Given the description of an element on the screen output the (x, y) to click on. 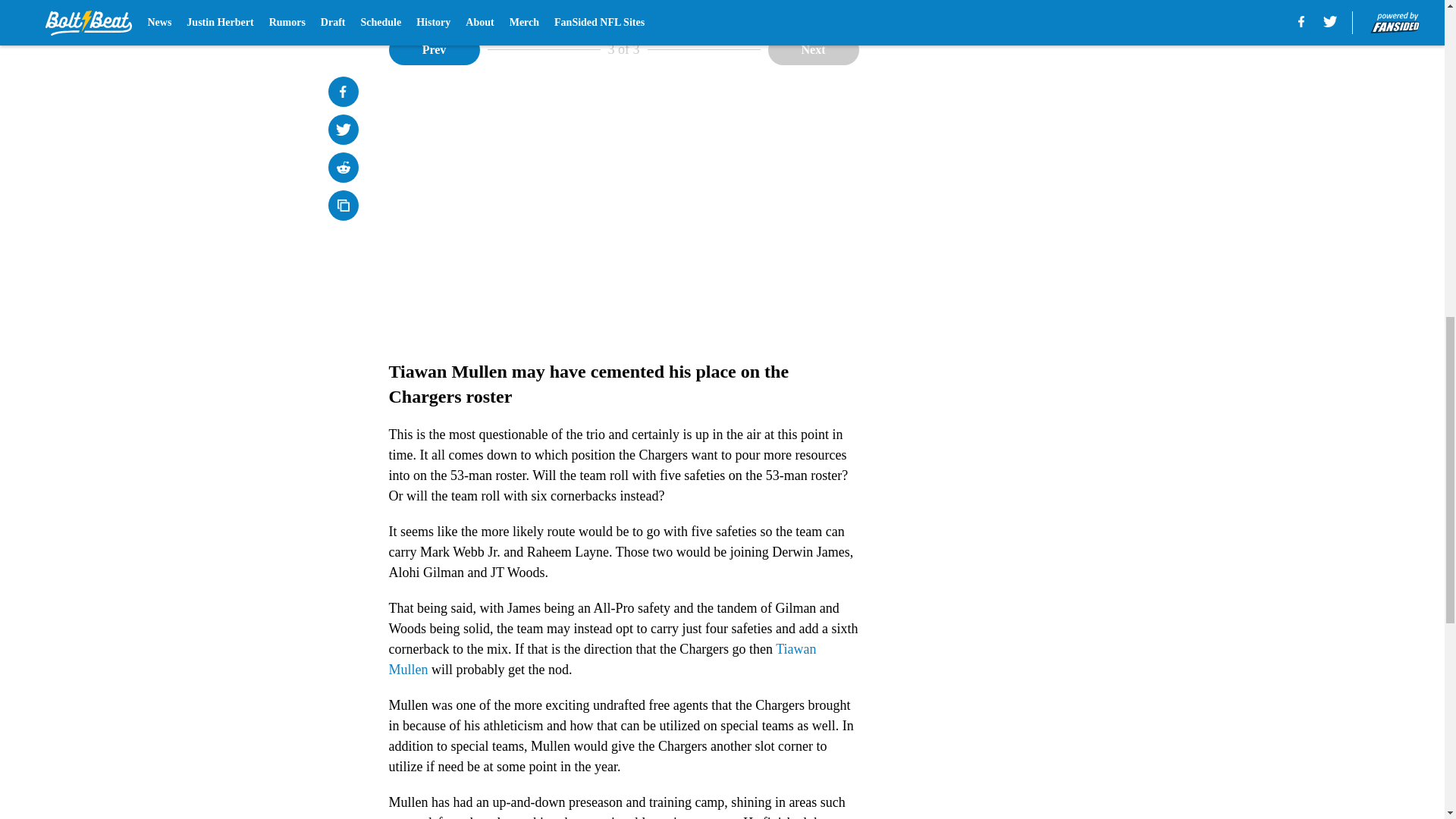
Tiawan Mullen (601, 659)
Next (813, 50)
Prev (433, 50)
